Given the description of an element on the screen output the (x, y) to click on. 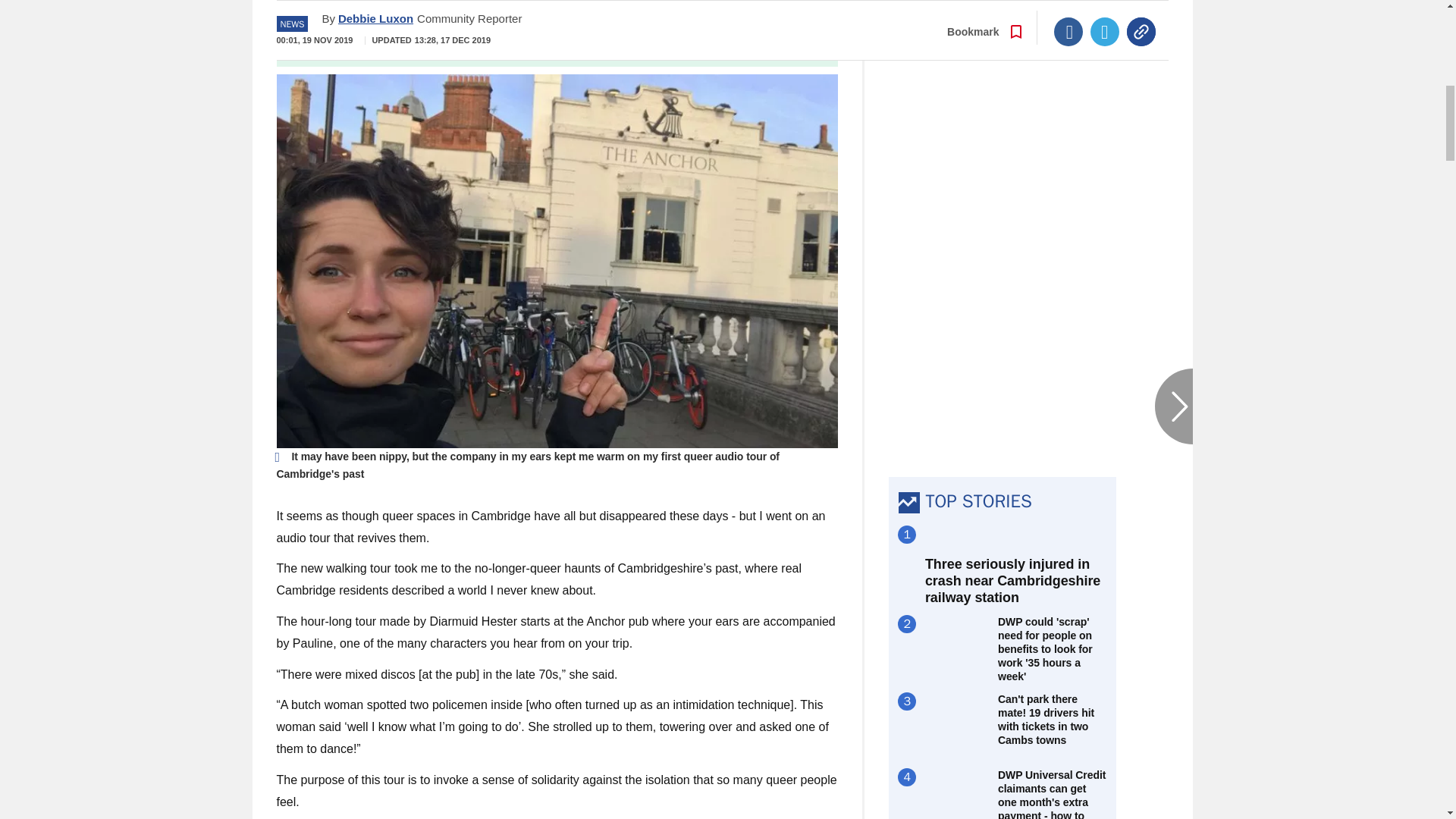
Go (730, 40)
